Given the description of an element on the screen output the (x, y) to click on. 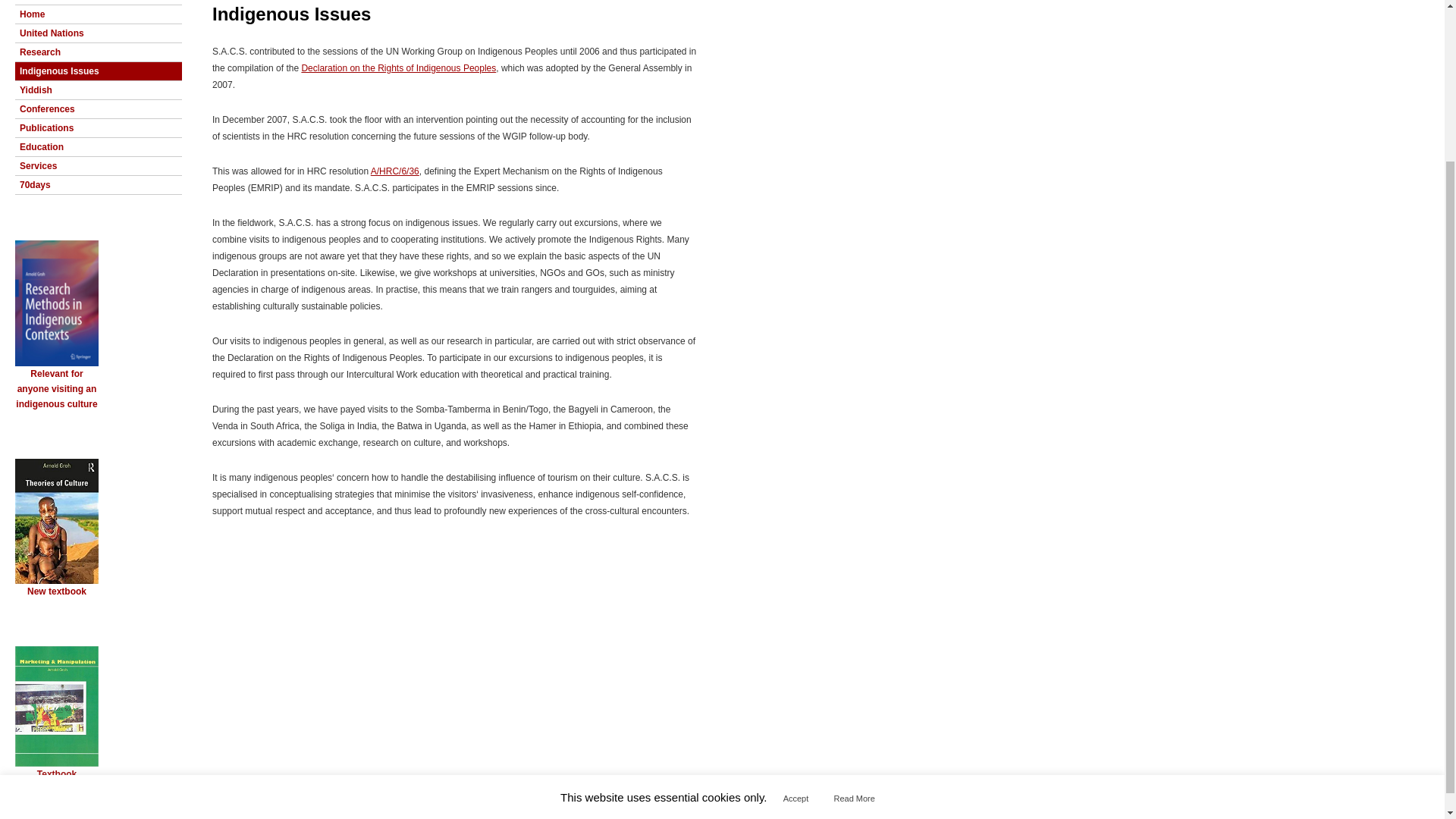
Services (98, 166)
Education (98, 147)
Declaration on the Rights of Indigenous Peoples (398, 68)
Research (98, 52)
Yiddish (98, 90)
United Nations (98, 33)
Home (98, 13)
S.A.C.S. (233, 797)
Declaration on the Rights of Indigenous Peoples (398, 68)
Accept (796, 603)
